Given the description of an element on the screen output the (x, y) to click on. 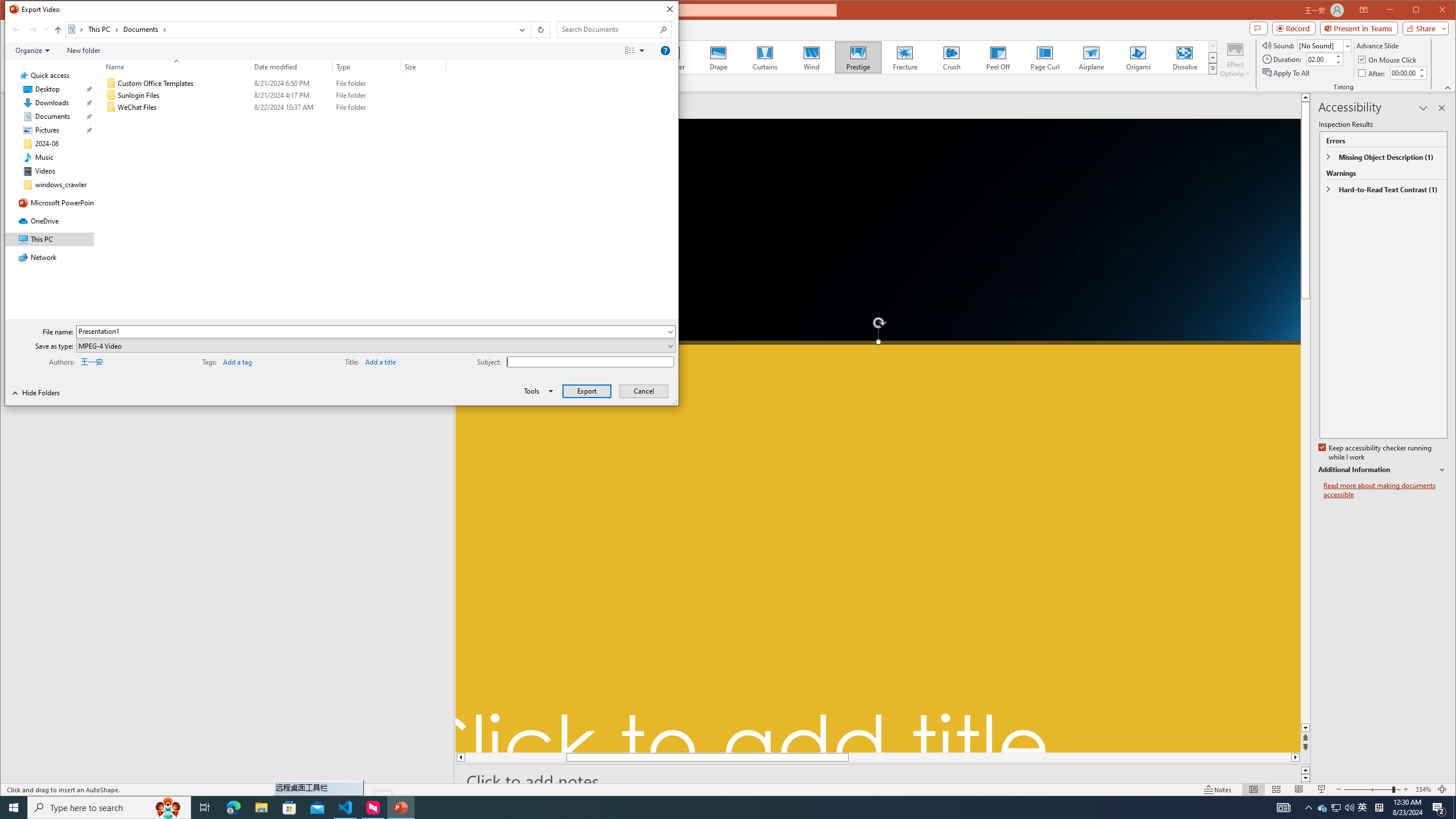
Dissolve (1184, 57)
Up band toolbar (57, 31)
Save as type: (375, 345)
Export (586, 391)
Curtains (764, 57)
Recent locations (45, 29)
File name: (375, 331)
Crush (951, 57)
